Given the description of an element on the screen output the (x, y) to click on. 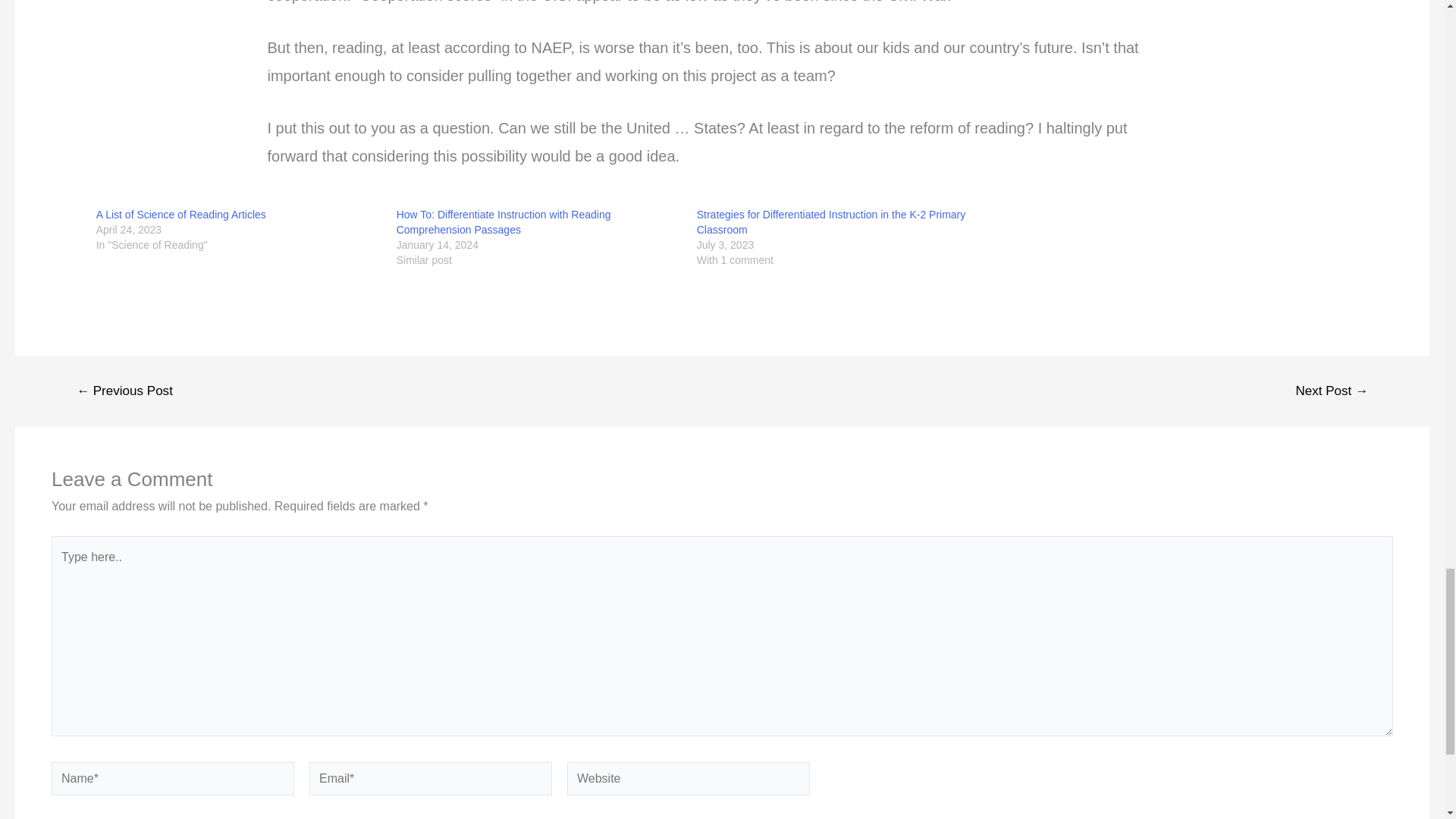
A List of Science of Reading Articles (181, 214)
A List of Science of Reading Articles (181, 214)
